Given the description of an element on the screen output the (x, y) to click on. 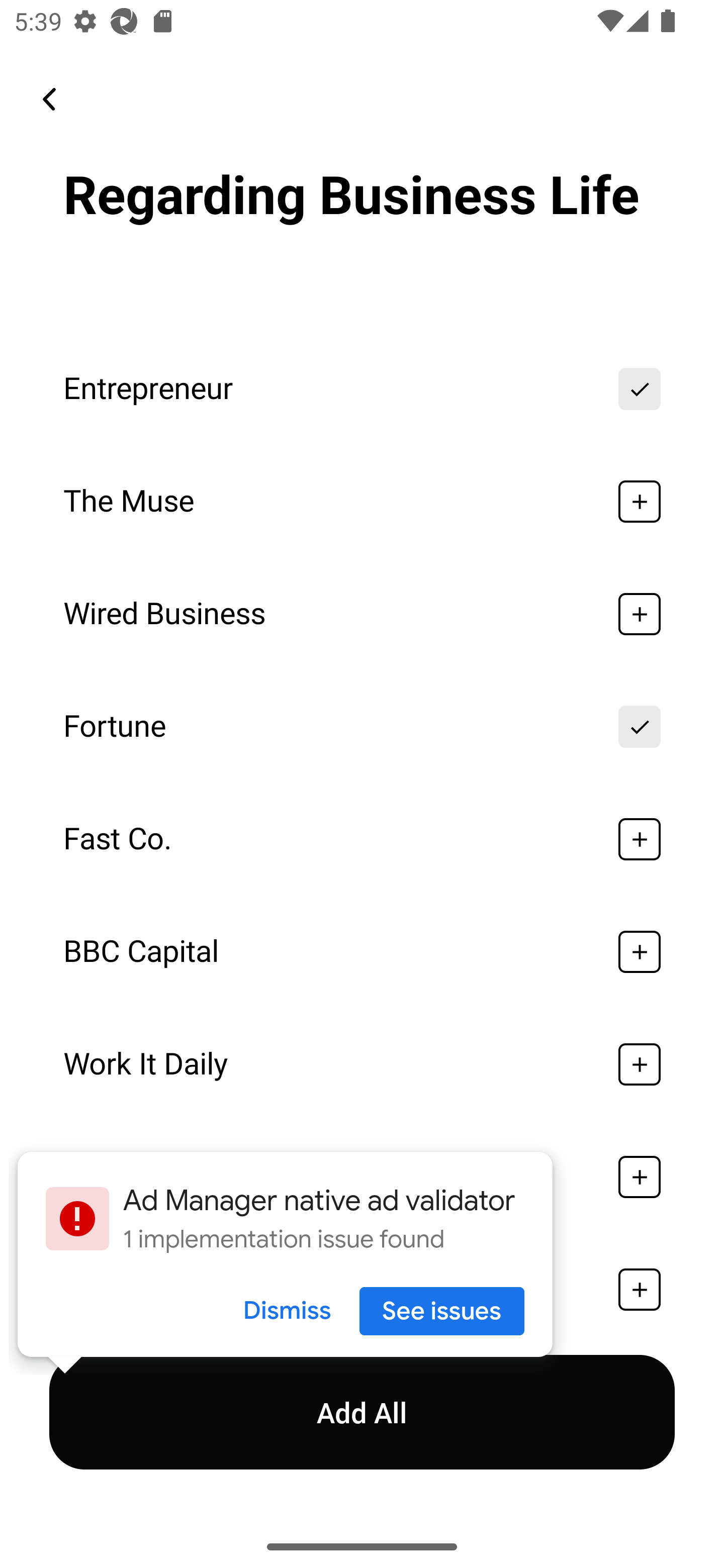
Leading Icon (49, 98)
Entrepreneur Add To My Bundle (361, 388)
Add To My Bundle (639, 388)
The Muse Add To My Bundle (361, 501)
Add To My Bundle (639, 501)
Wired Business Add To My Bundle (361, 614)
Add To My Bundle (639, 614)
Fortune Add To My Bundle (361, 726)
Add To My Bundle (639, 726)
Fast Co. Add To My Bundle (361, 838)
Add To My Bundle (639, 838)
BBC Capital Add To My Bundle (361, 951)
Add To My Bundle (639, 951)
Work It Daily Add To My Bundle (361, 1064)
Add To My Bundle (639, 1064)
Add To My Bundle (639, 1177)
Add To My Bundle (639, 1289)
Add All (361, 1411)
